Given the description of an element on the screen output the (x, y) to click on. 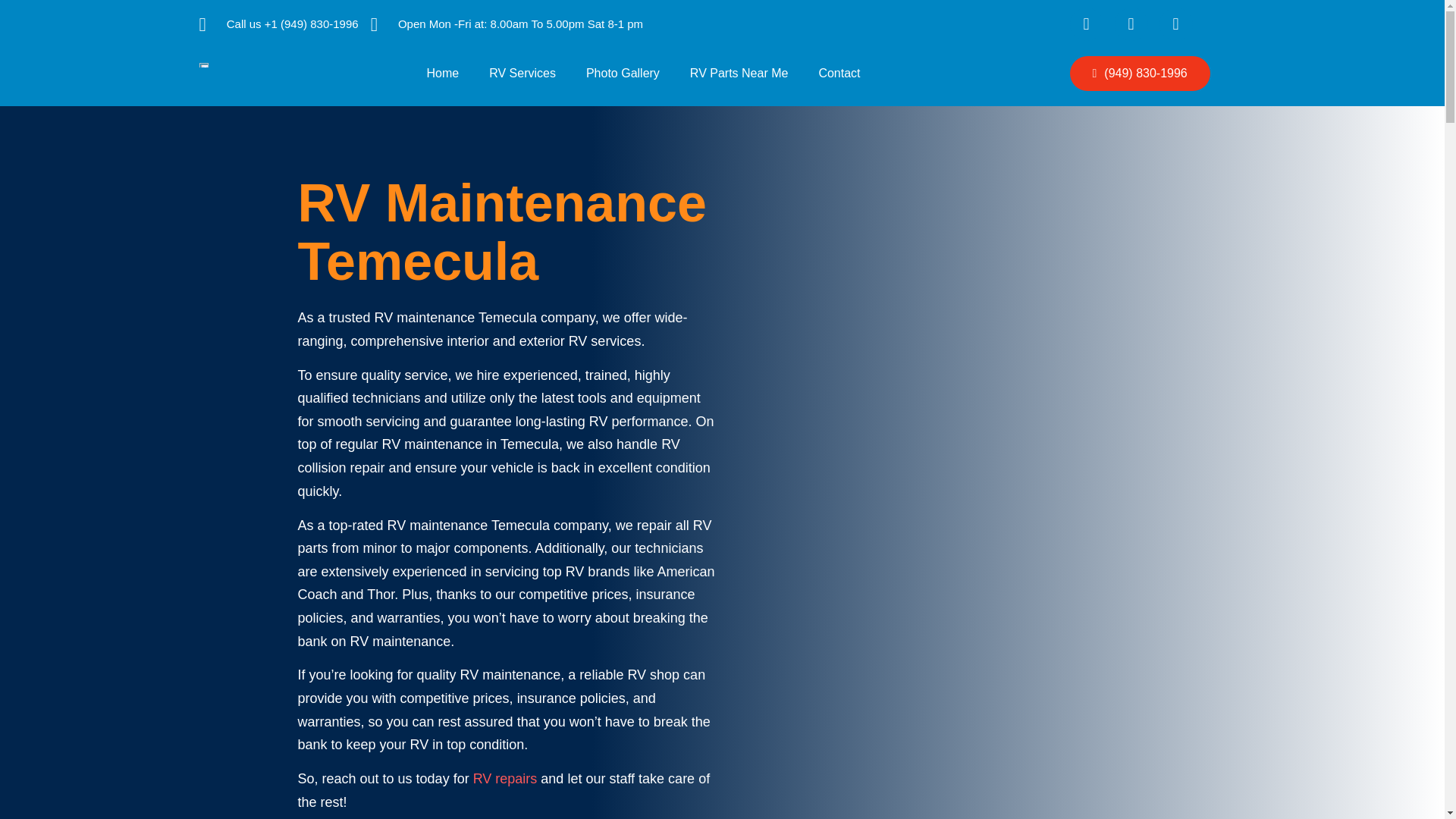
Home (442, 73)
RV Services (522, 73)
